Given the description of an element on the screen output the (x, y) to click on. 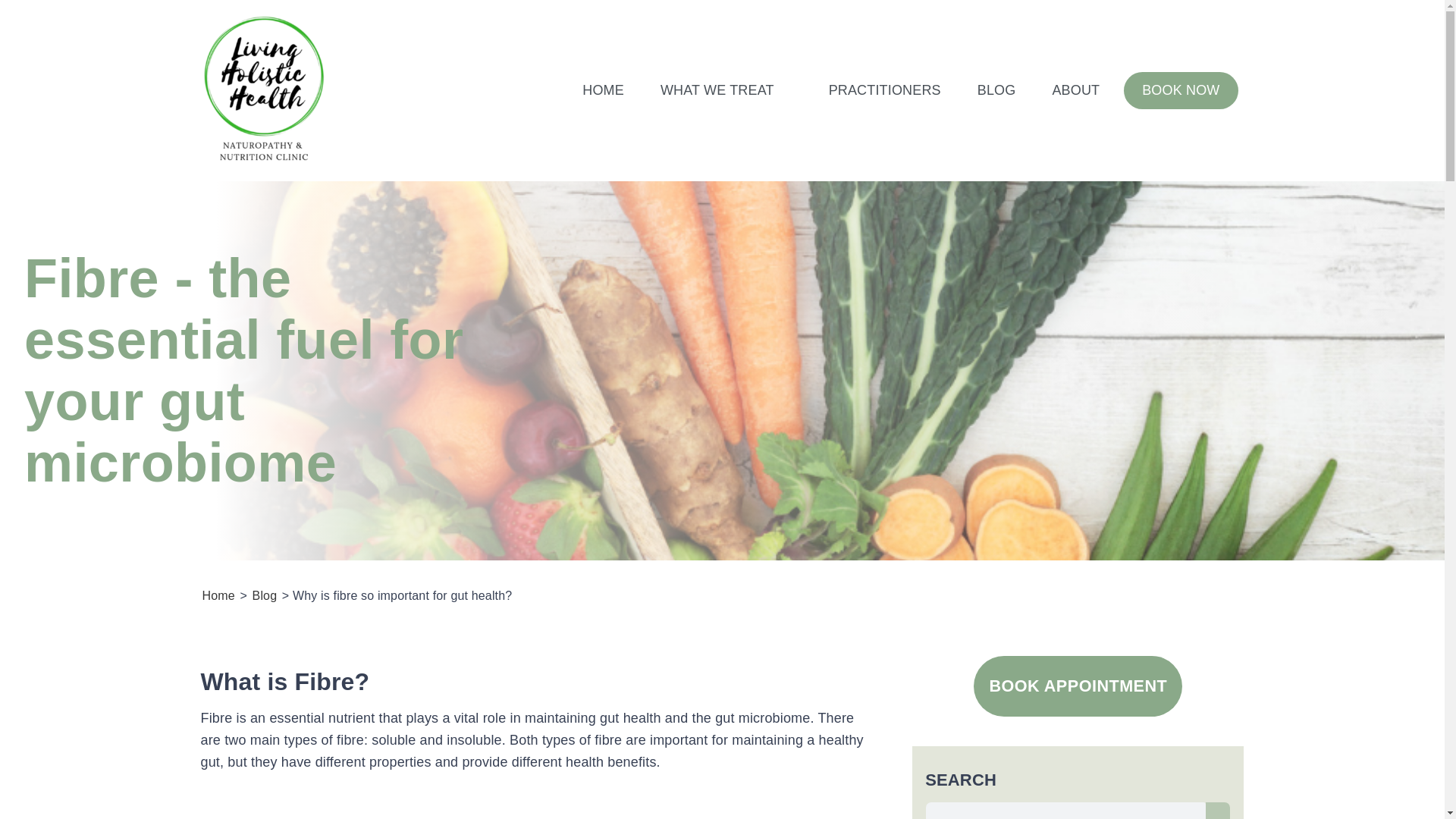
WHAT WE TREAT (726, 90)
HOME (603, 90)
